Given the description of an element on the screen output the (x, y) to click on. 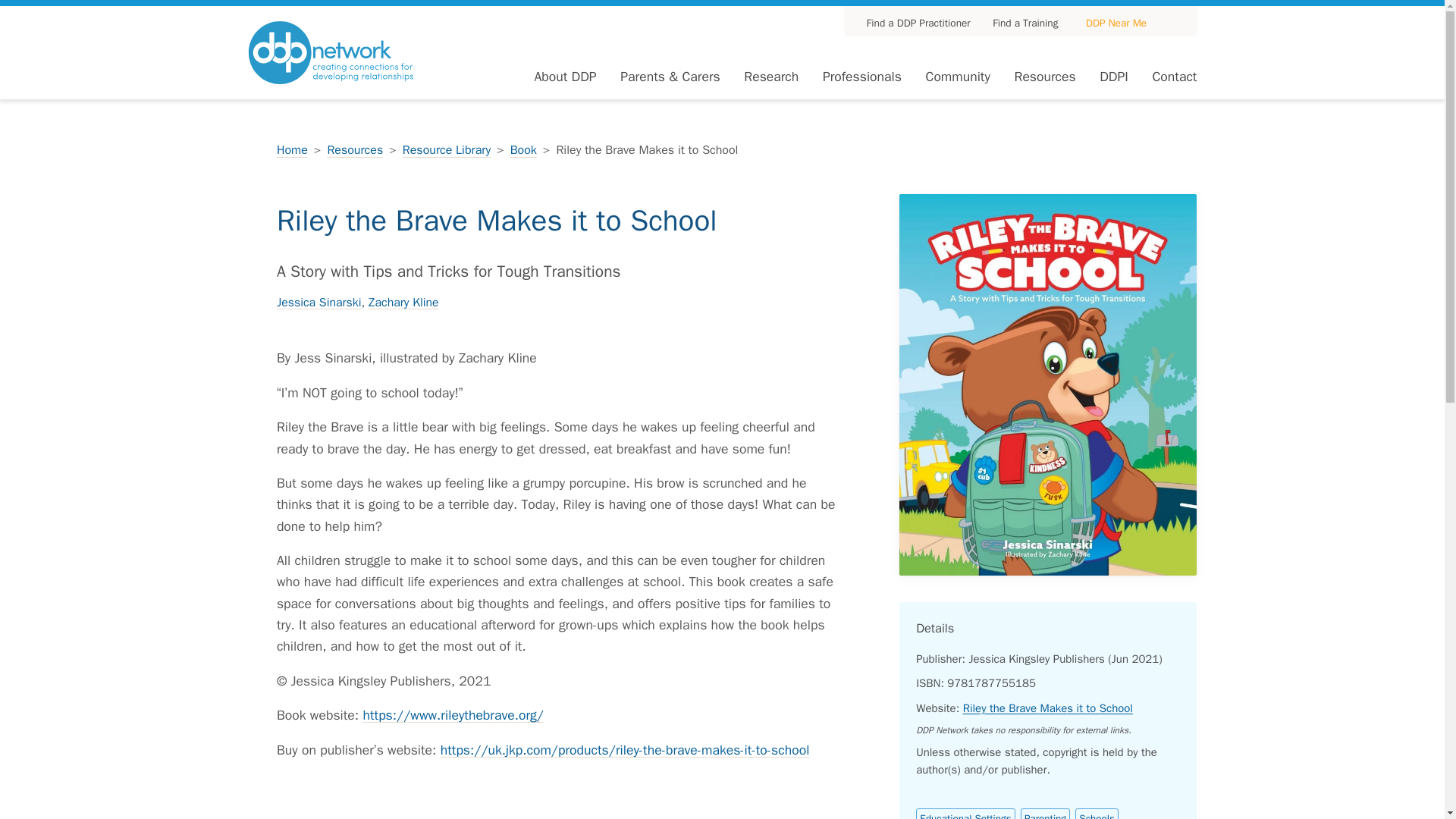
About DDP (564, 76)
About DDP (564, 76)
Find a Training (1018, 22)
Search (1182, 21)
DDP Near Me (1115, 22)
Research (770, 76)
Research (770, 76)
Find a DDP Practitioner (911, 22)
Professionals (861, 76)
Network Sites (1115, 22)
